Given the description of an element on the screen output the (x, y) to click on. 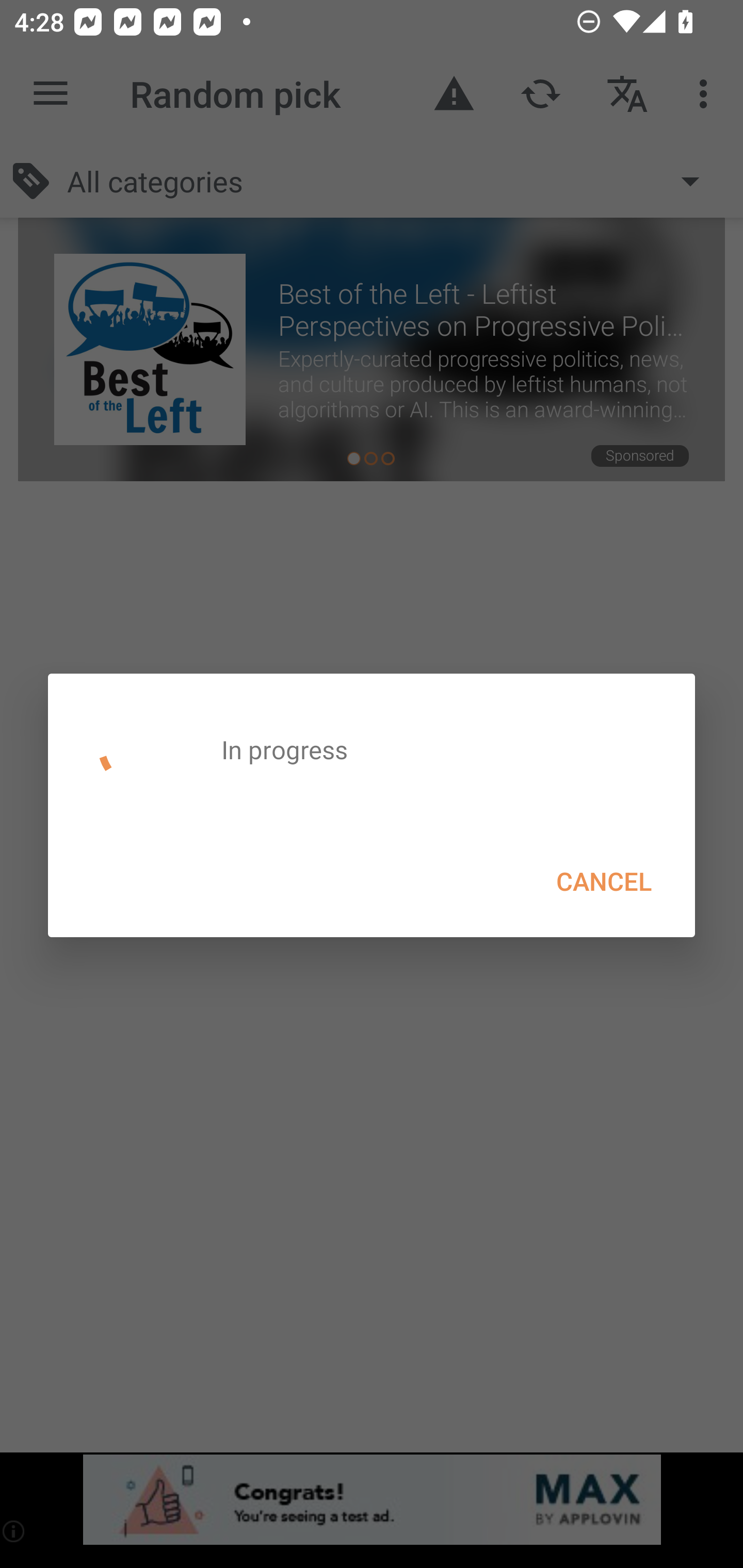
CANCEL (603, 880)
